Given the description of an element on the screen output the (x, y) to click on. 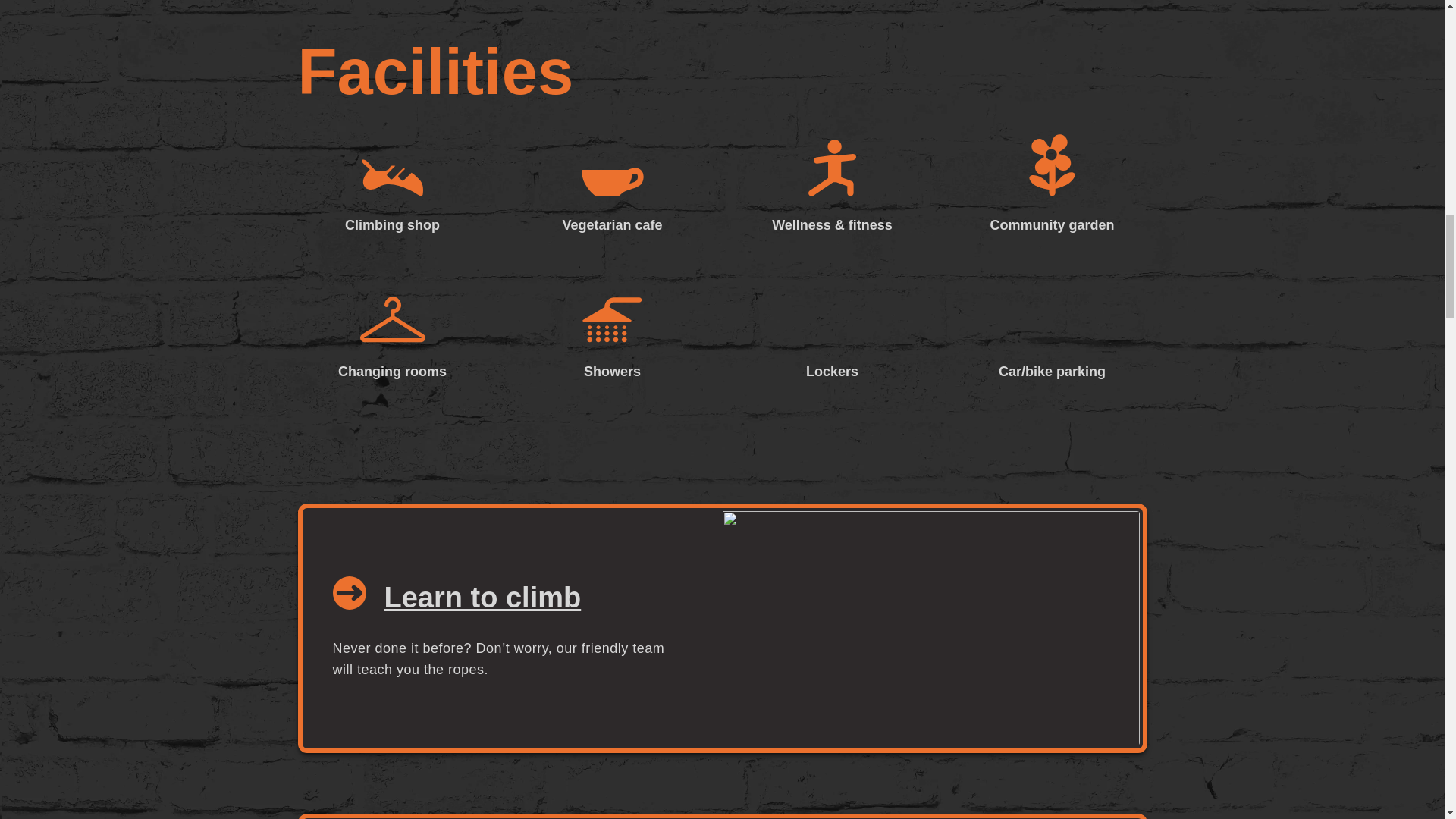
Community garden (1051, 184)
Climbing shop (391, 196)
